Given the description of an element on the screen output the (x, y) to click on. 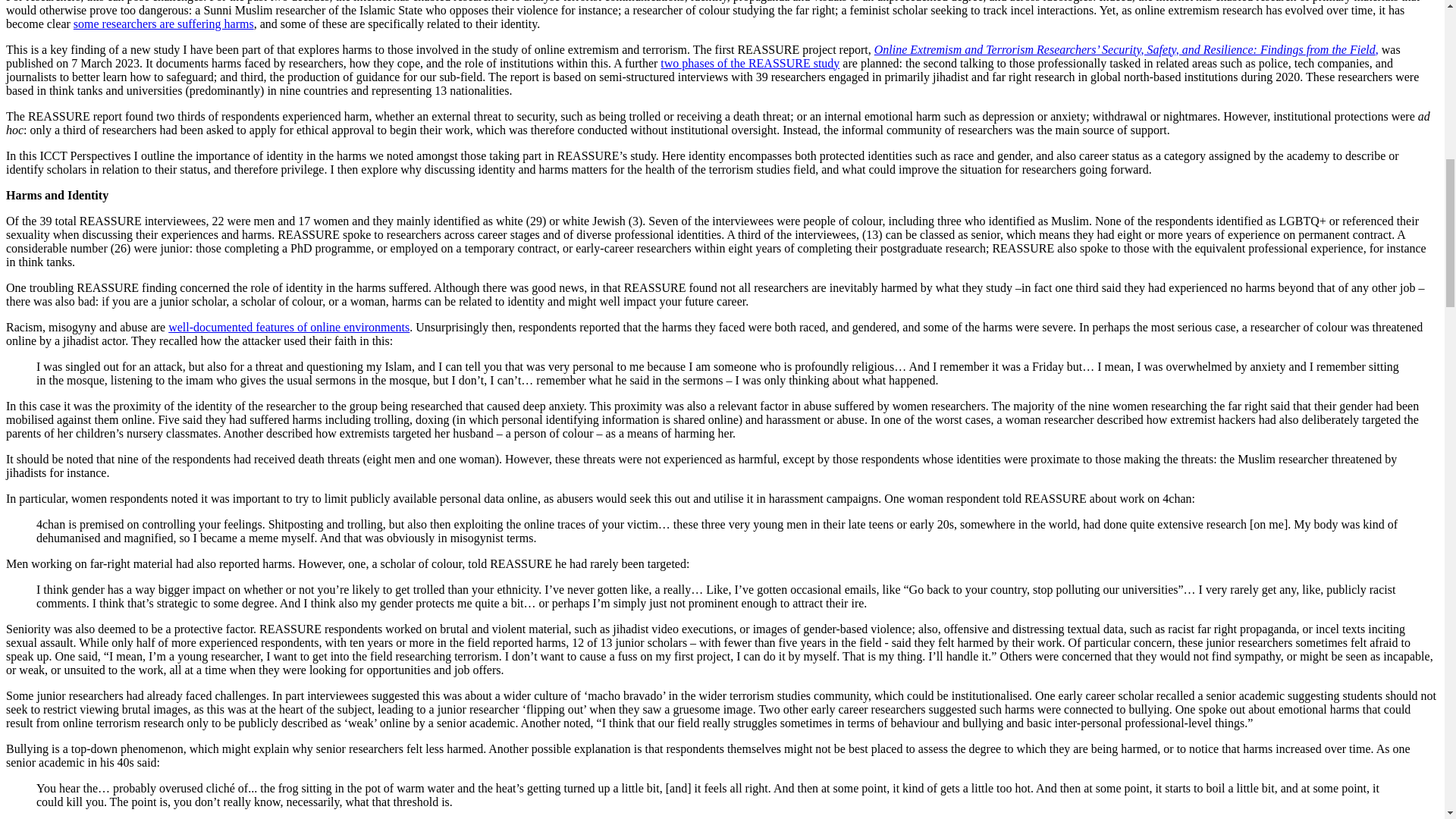
two phases of the REASSURE study (750, 62)
some researchers are suffering harms (163, 22)
well-documented features of online environments (288, 326)
